Given the description of an element on the screen output the (x, y) to click on. 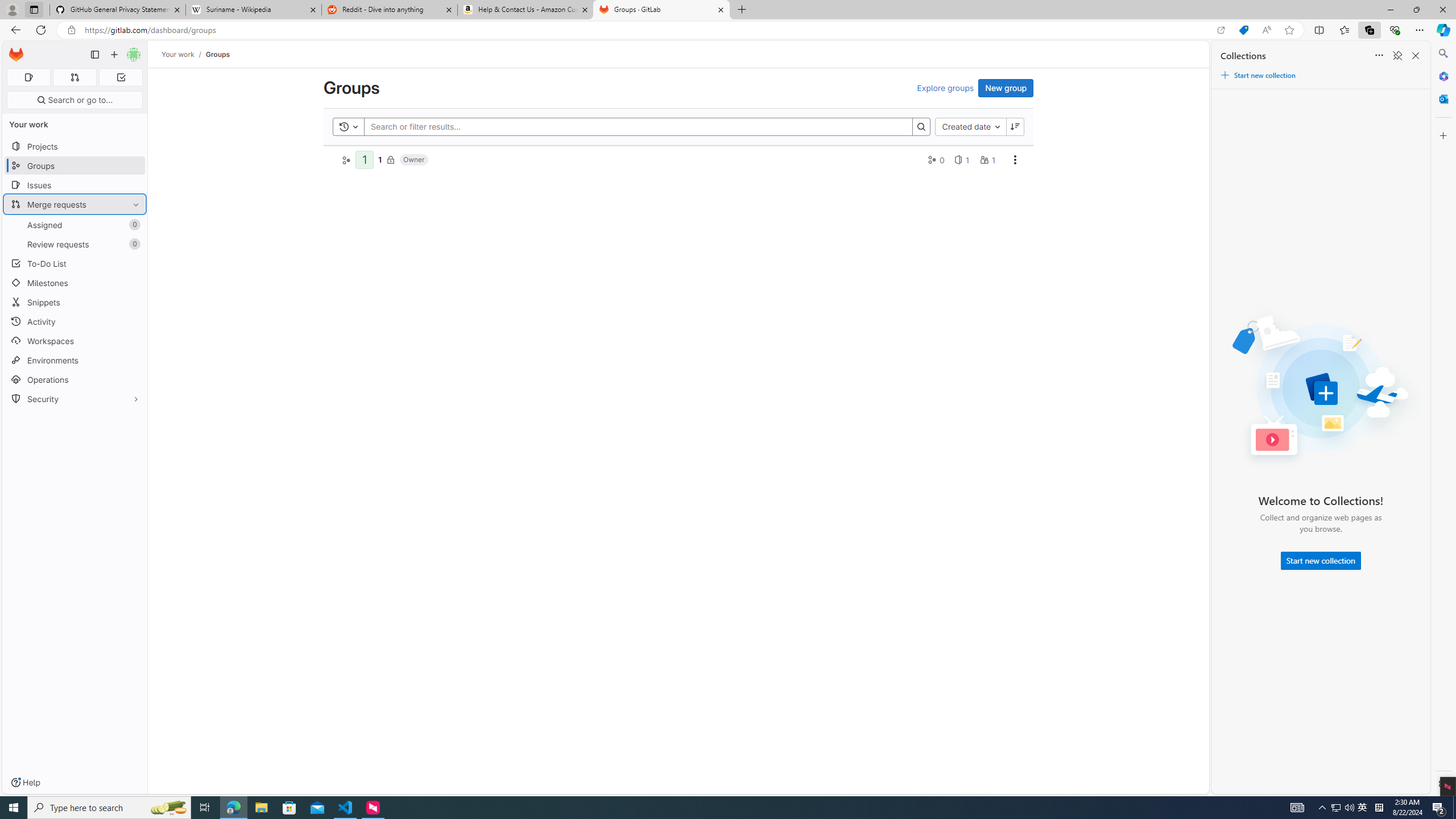
Unpin Collections (1397, 55)
1 (379, 159)
Your work (178, 53)
11Owner011 (678, 158)
Security (74, 398)
Created date (970, 126)
Snippets (74, 302)
